Given the description of an element on the screen output the (x, y) to click on. 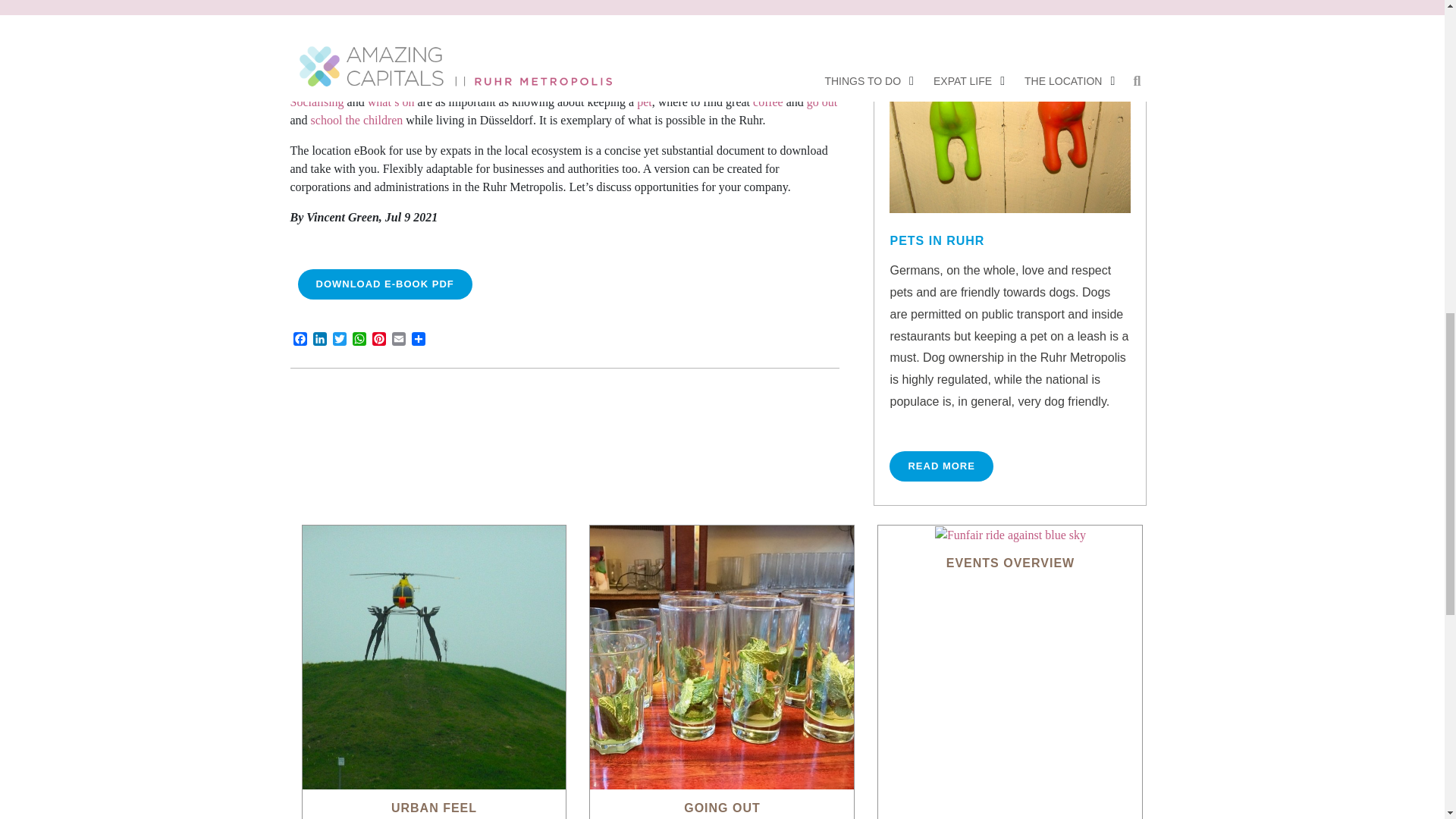
Pinterest (378, 340)
Email (397, 340)
Twitter (339, 340)
WhatsApp (358, 340)
LinkedIn (318, 340)
Facebook (298, 340)
